Given the description of an element on the screen output the (x, y) to click on. 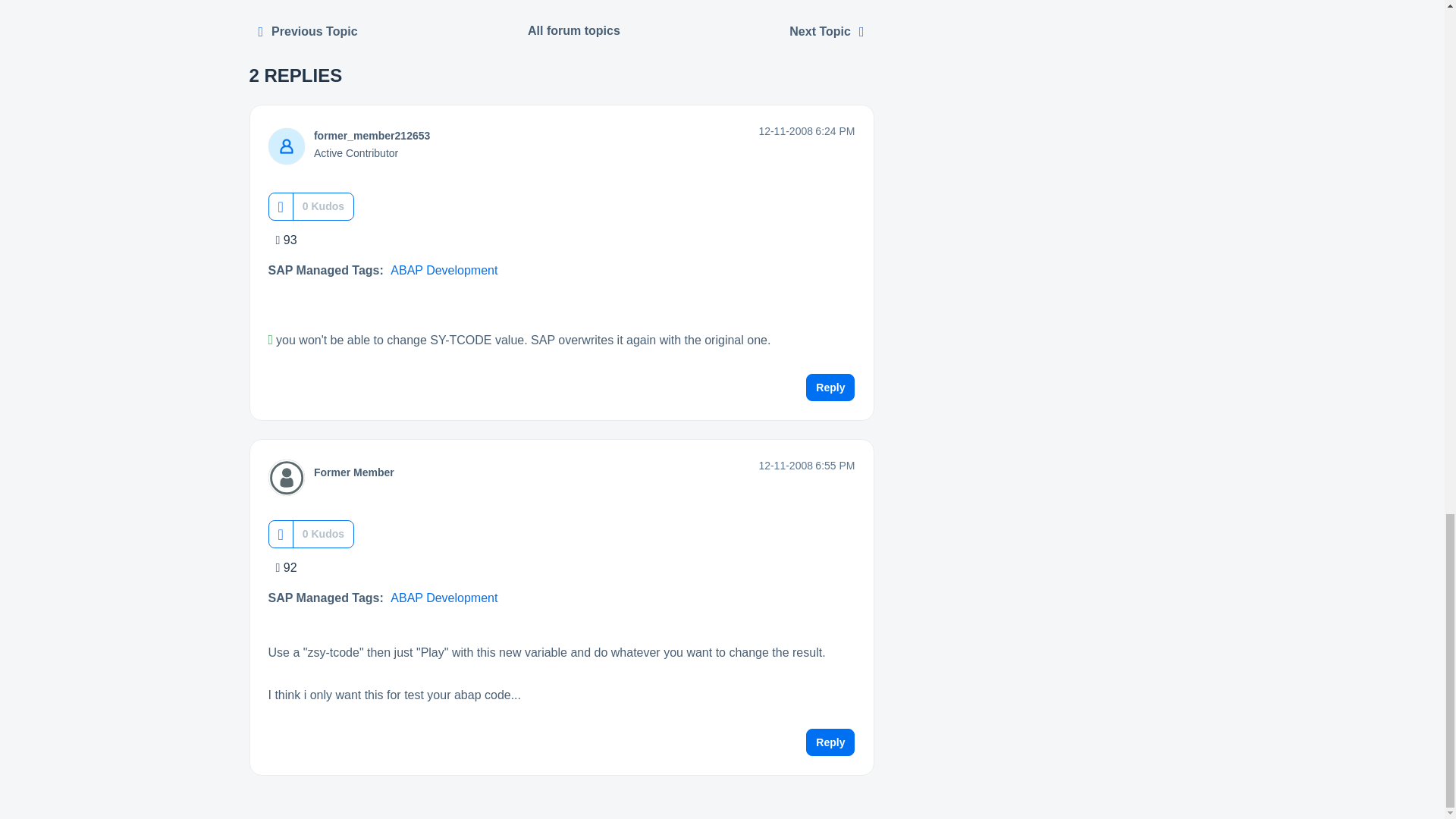
Previous Topic (308, 31)
All forum topics (574, 30)
Next Topic (825, 31)
